Given the description of an element on the screen output the (x, y) to click on. 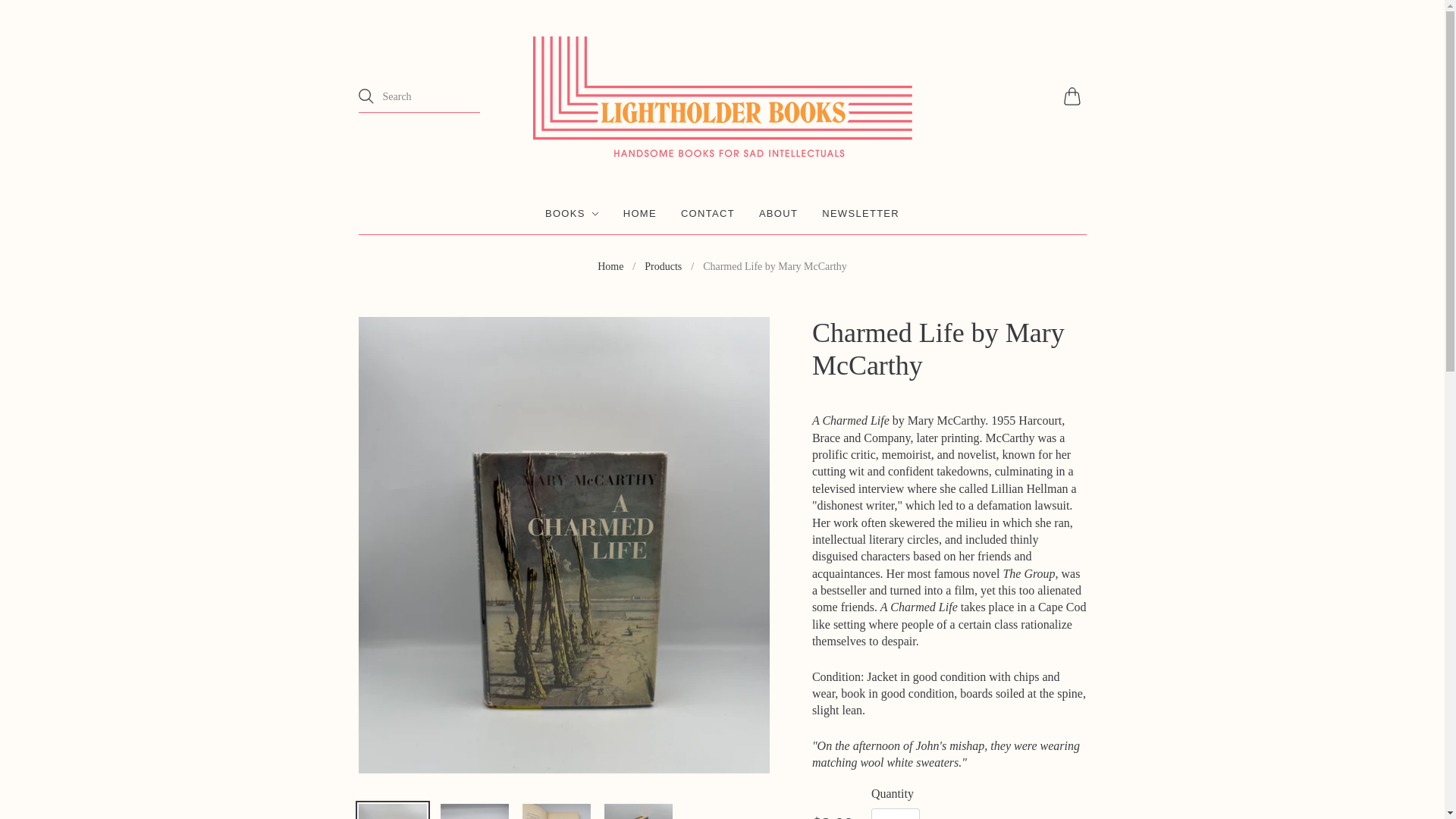
CONTACT (708, 213)
NEWSLETTER (860, 213)
Cart (1074, 96)
HOME (639, 213)
ABOUT (777, 213)
1 (895, 813)
